Given the description of an element on the screen output the (x, y) to click on. 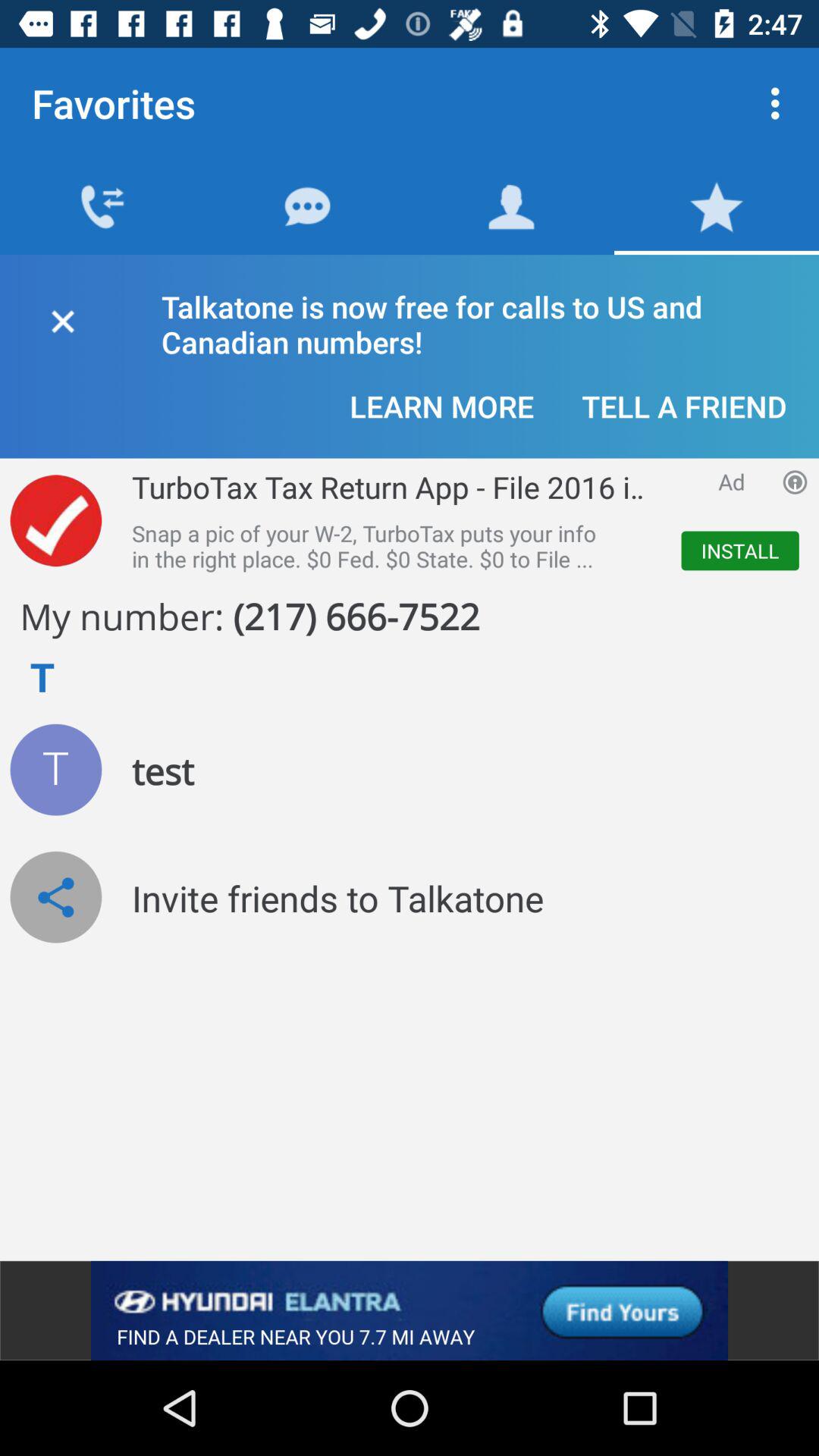
more information about advertisement (795, 482)
